Given the description of an element on the screen output the (x, y) to click on. 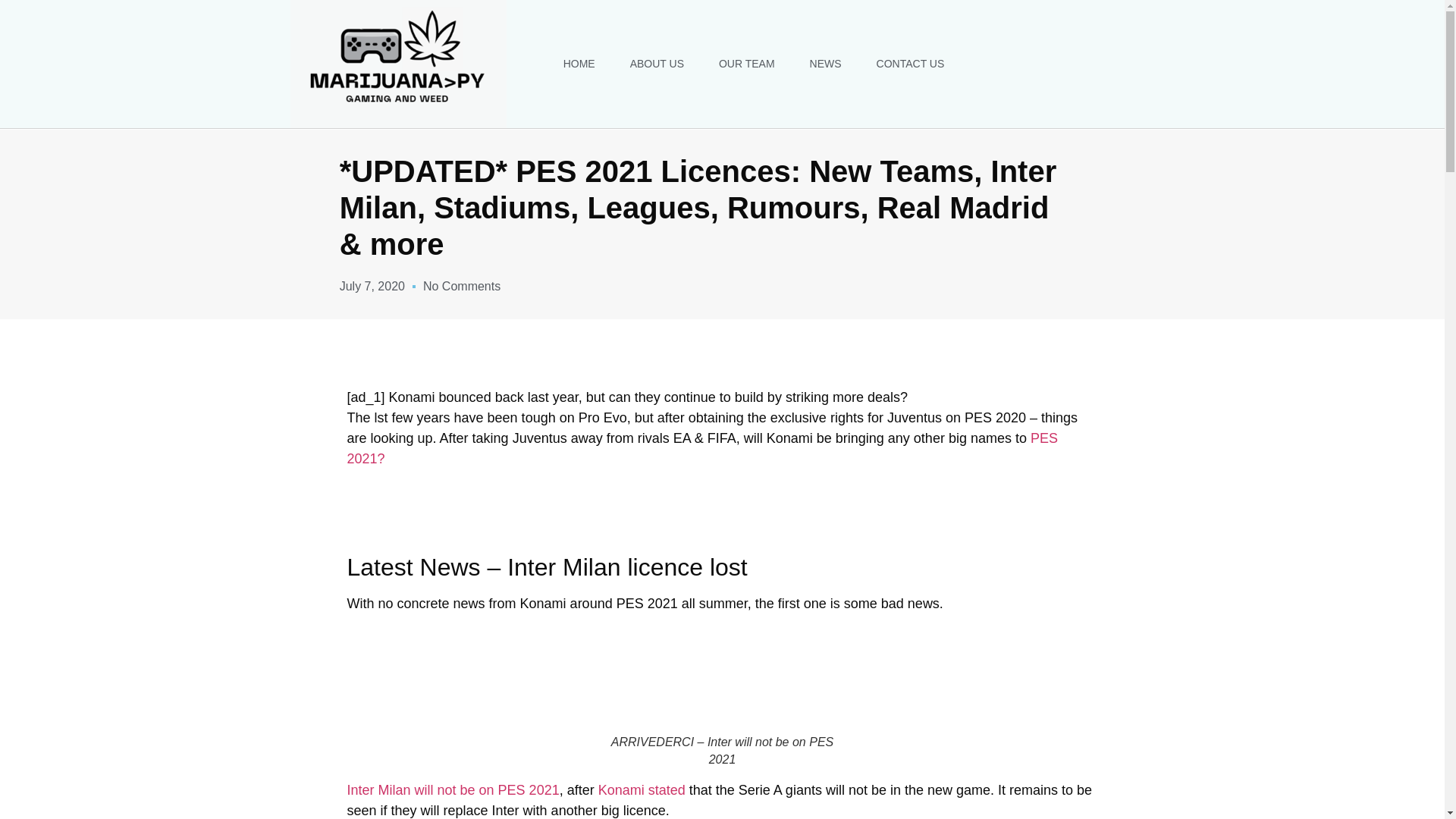
OUR TEAM (746, 63)
ABOUT US (656, 63)
NEWS (825, 63)
PES 2021? (702, 448)
Konami stated (643, 789)
July 7, 2020 (371, 286)
HOME (579, 63)
CONTACT US (910, 63)
Inter Milan will not be on PES 2021 (453, 789)
GET THREE MONTHS OF KINDLE UNLIMITED HERE! (721, 510)
